Given the description of an element on the screen output the (x, y) to click on. 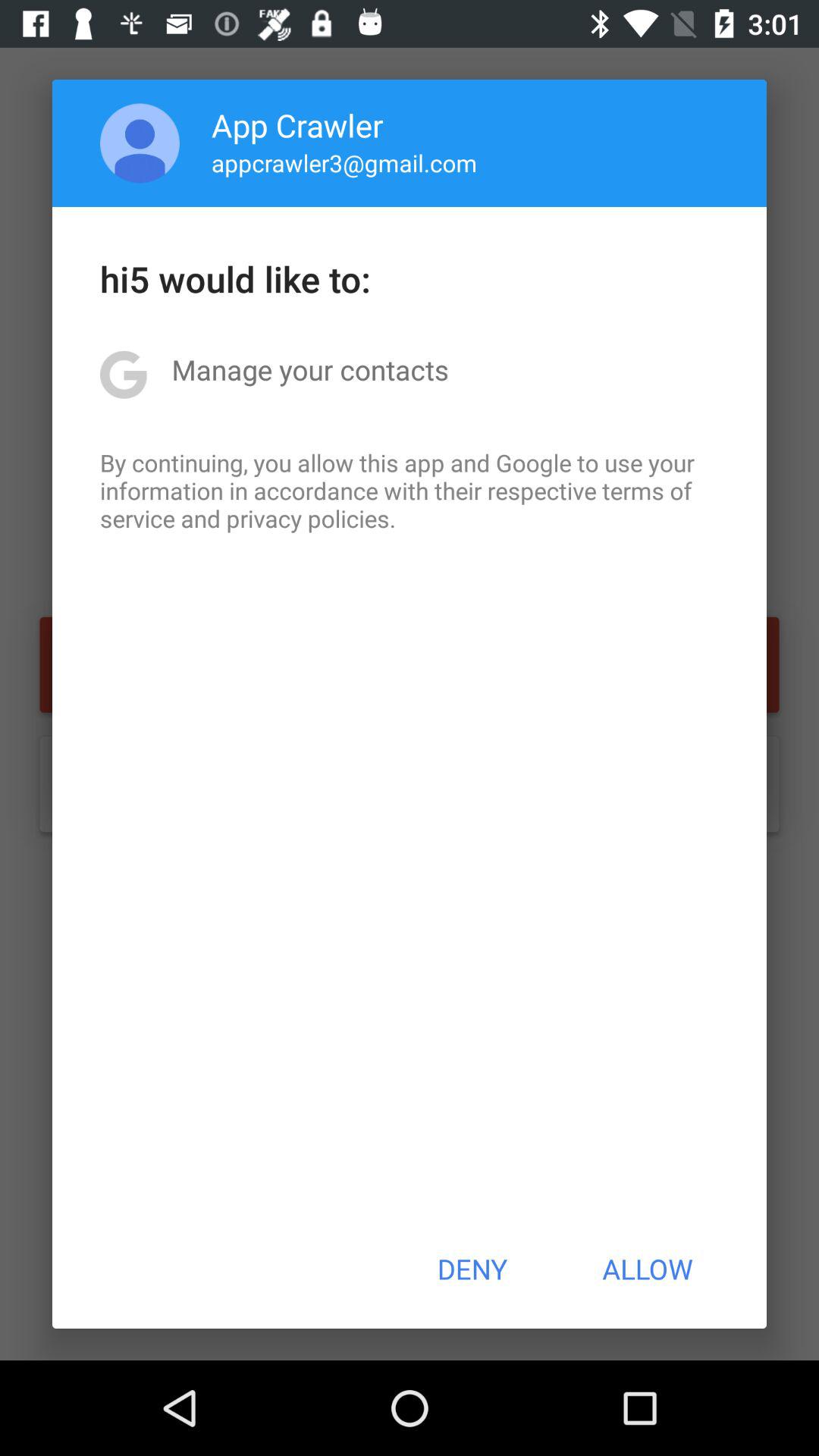
click the item next to allow item (471, 1268)
